Given the description of an element on the screen output the (x, y) to click on. 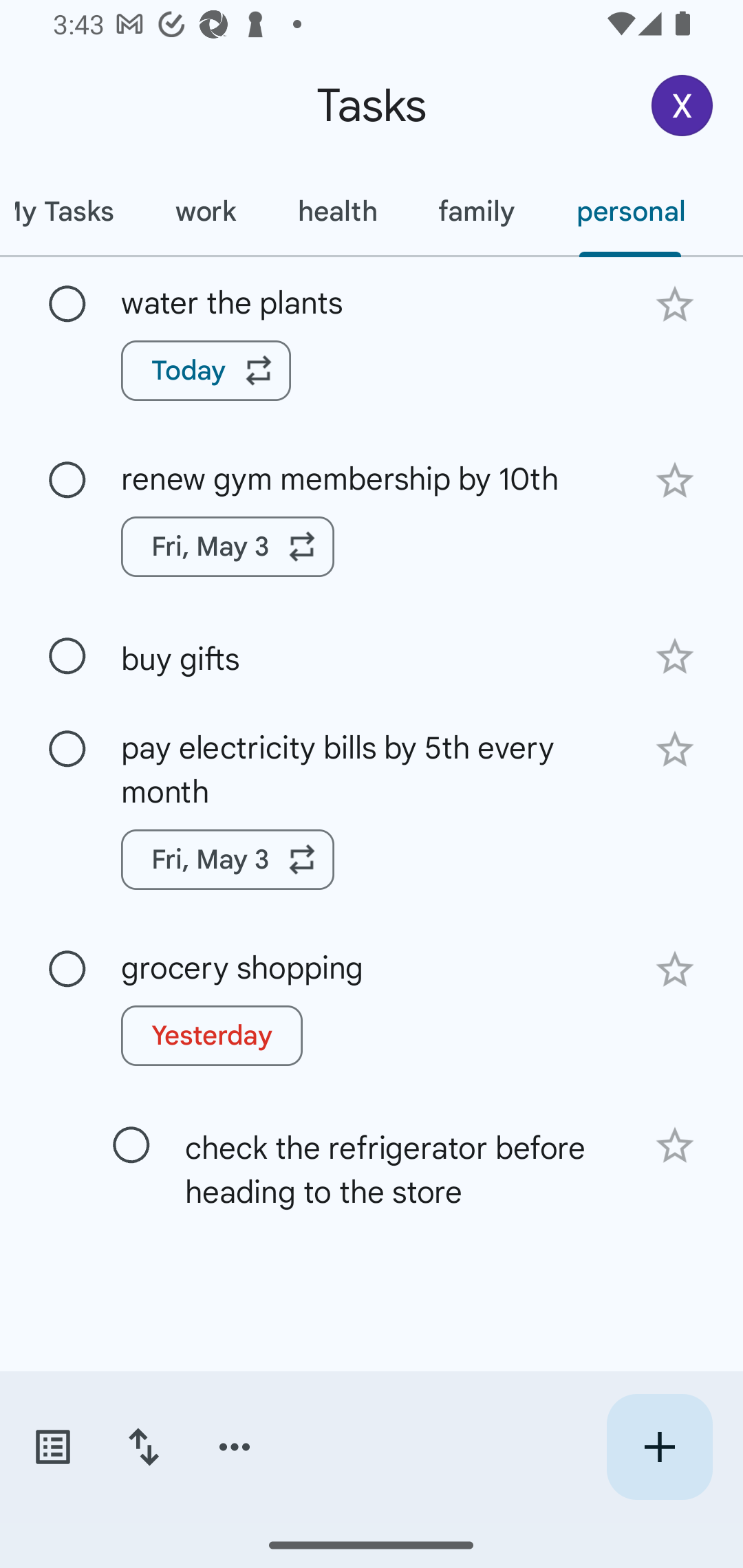
My Tasks (72, 211)
work (205, 211)
health (336, 211)
family (476, 211)
Add star (674, 303)
Mark as complete (67, 304)
Today (206, 369)
Add star (674, 480)
Mark as complete (67, 480)
Fri, May 3 (227, 546)
buy gifts buy gifts Add star Mark as complete (371, 655)
Add star (674, 656)
Mark as complete (67, 655)
Add star (674, 749)
Mark as complete (67, 750)
Fri, May 3 (227, 858)
Add star (674, 968)
Mark as complete (67, 969)
Yesterday (211, 1035)
Add star (674, 1145)
Mark as complete (131, 1145)
Switch task lists (52, 1447)
Create new task (659, 1446)
Change sort order (143, 1446)
More options (234, 1446)
